Given the description of an element on the screen output the (x, y) to click on. 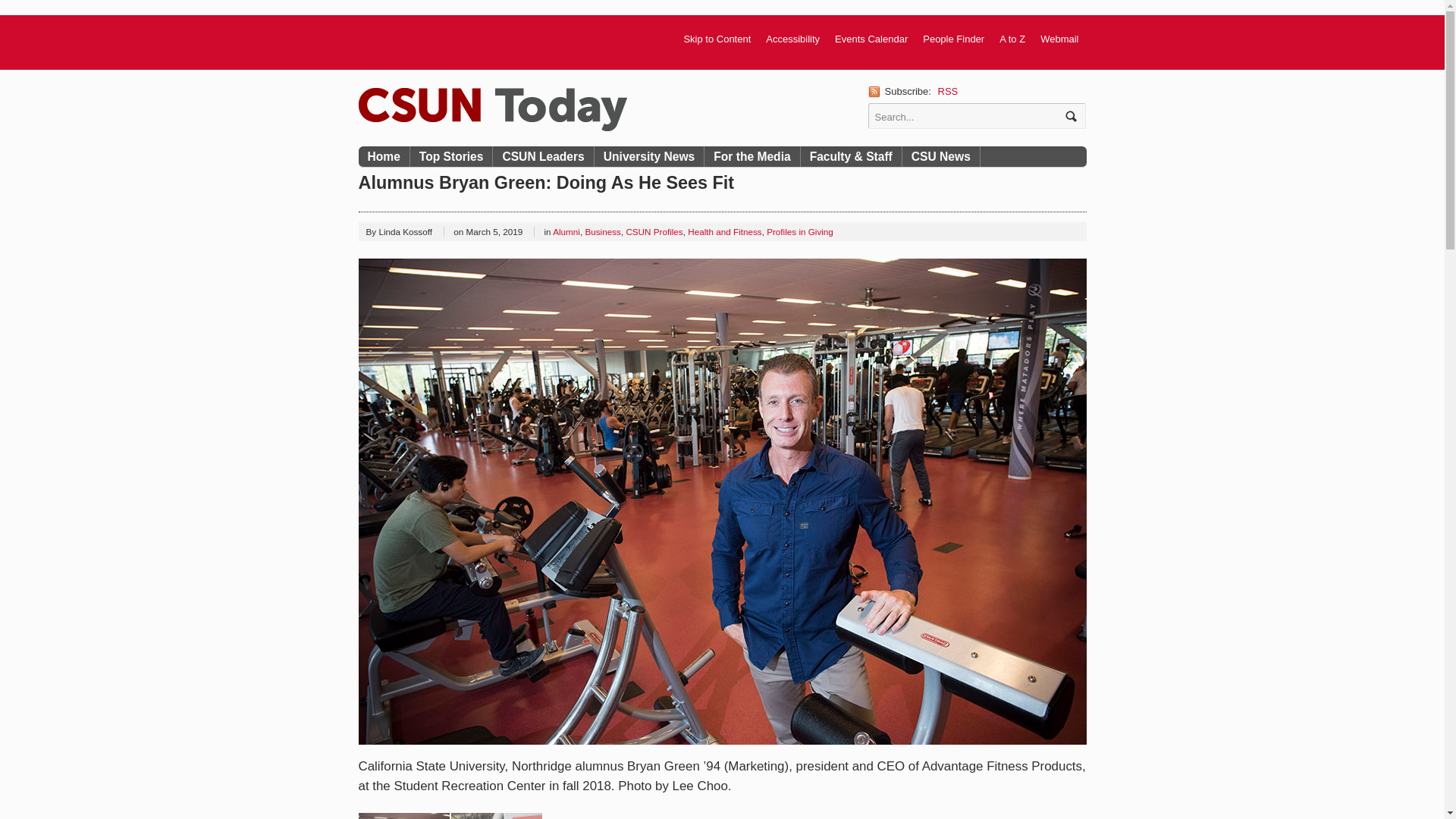
A to Z (1011, 39)
Webmail (1059, 39)
Home (383, 155)
Events Calendar (871, 39)
Alumni (566, 231)
University News (649, 155)
Top Stories (451, 155)
Profiles in Giving (799, 231)
RSS (948, 91)
For the Media (751, 155)
California State University, Northridge (492, 109)
Health and Fitness (724, 231)
CSUN Profiles (654, 231)
Business (602, 231)
People Finder (953, 39)
